Given the description of an element on the screen output the (x, y) to click on. 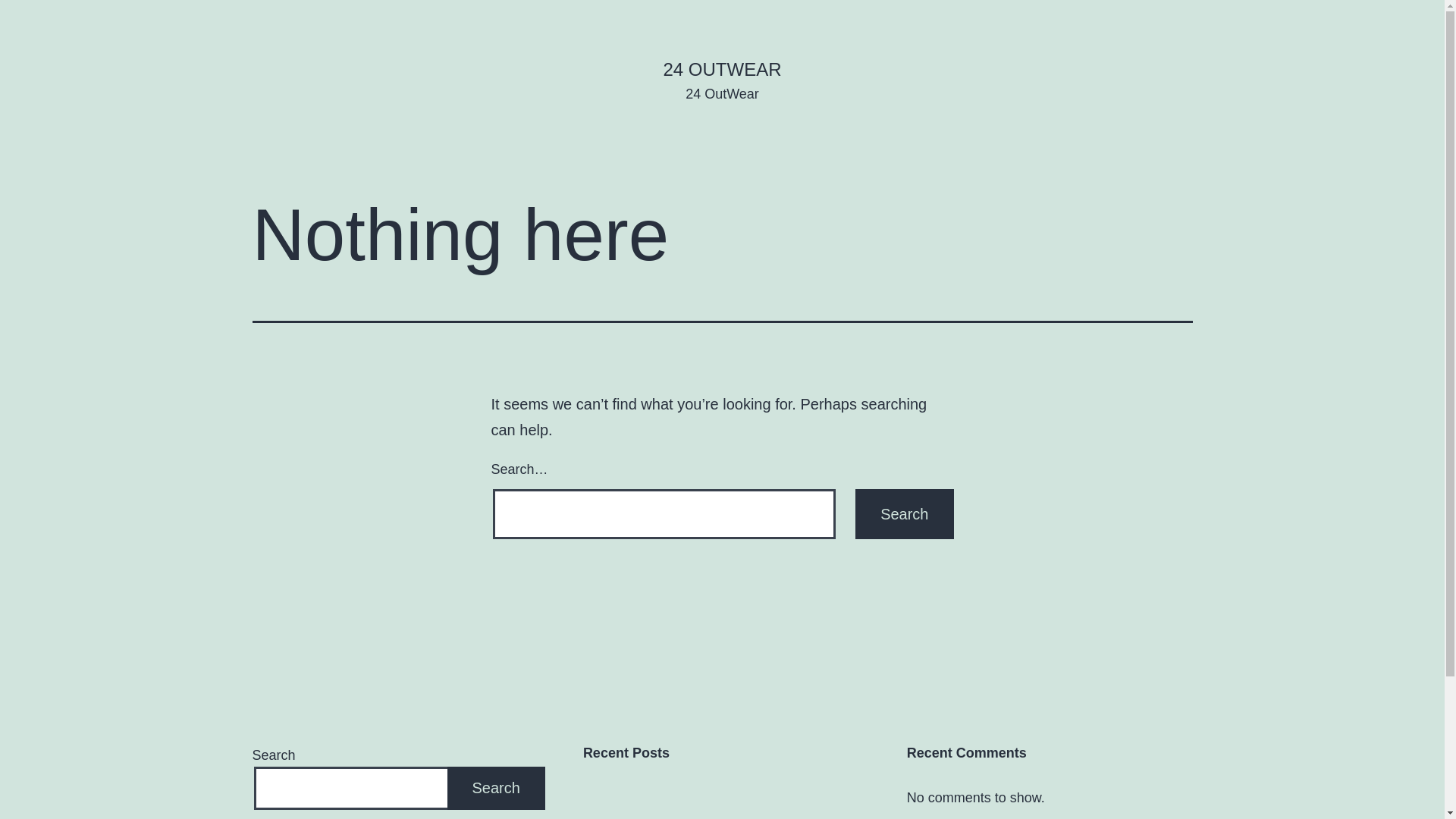
Search Element type: text (496, 787)
Search Element type: text (904, 514)
